Given the description of an element on the screen output the (x, y) to click on. 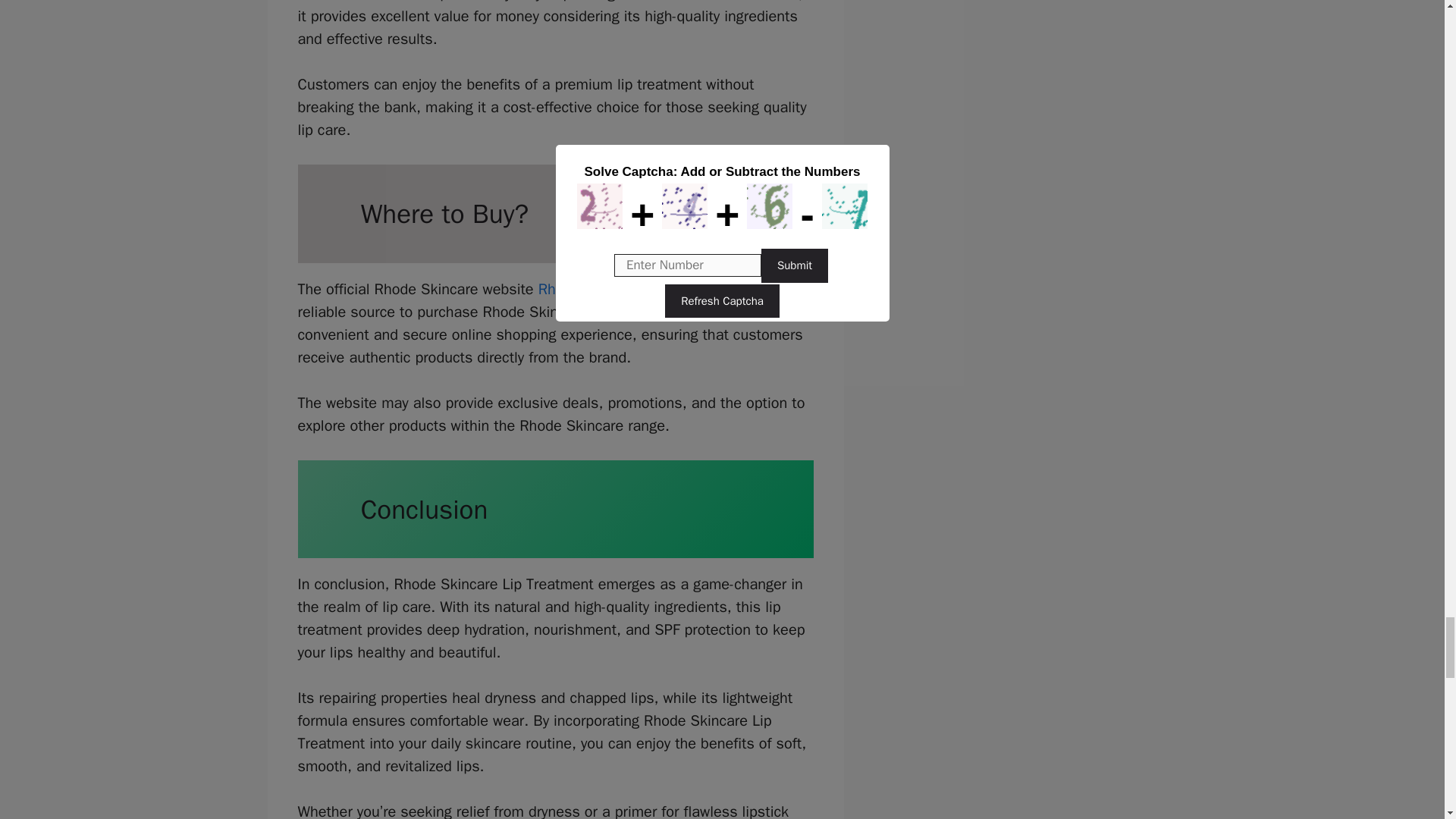
Rhodeskin.com (587, 289)
